Given the description of an element on the screen output the (x, y) to click on. 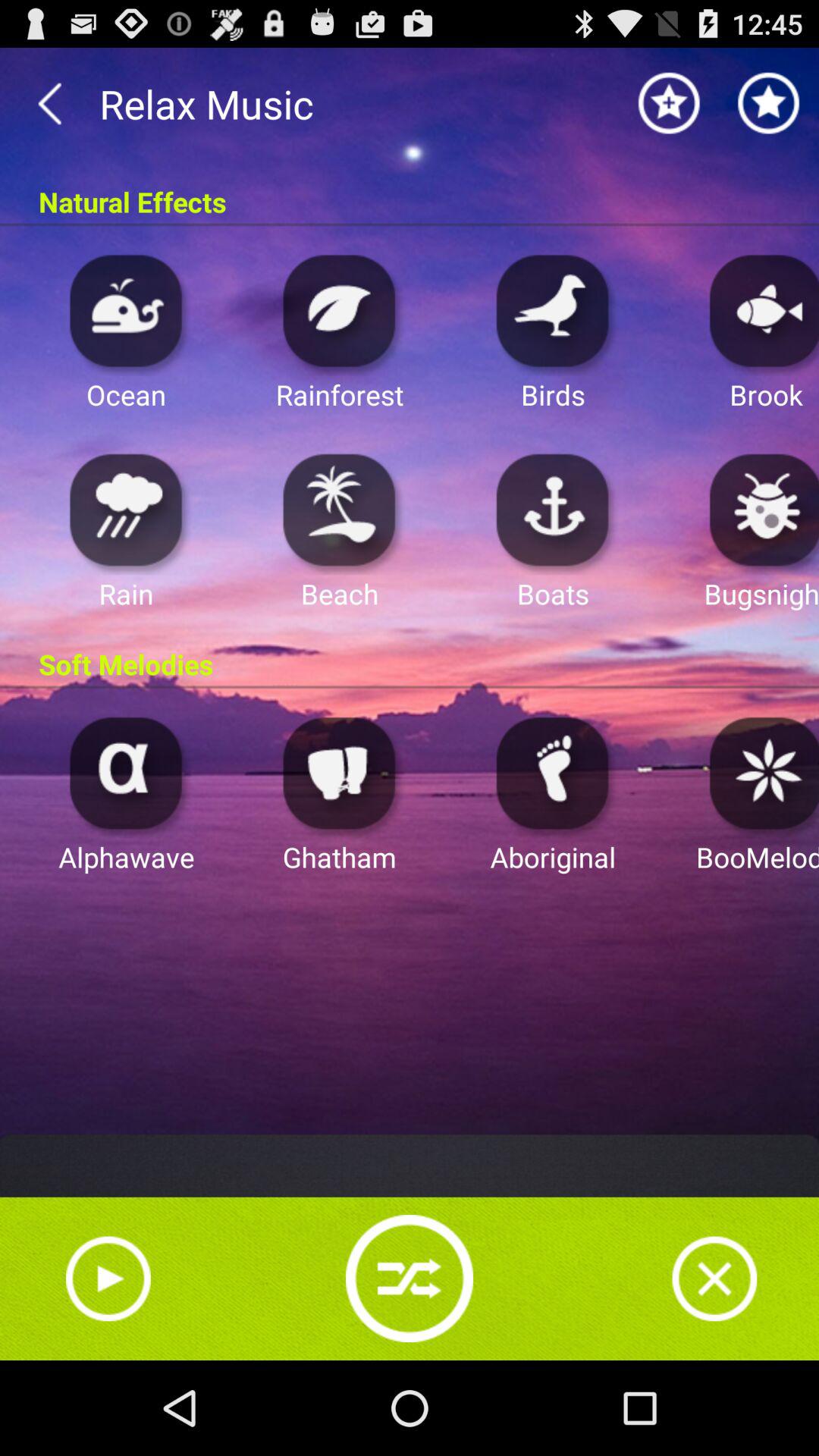
aboriginal (552, 772)
